Given the description of an element on the screen output the (x, y) to click on. 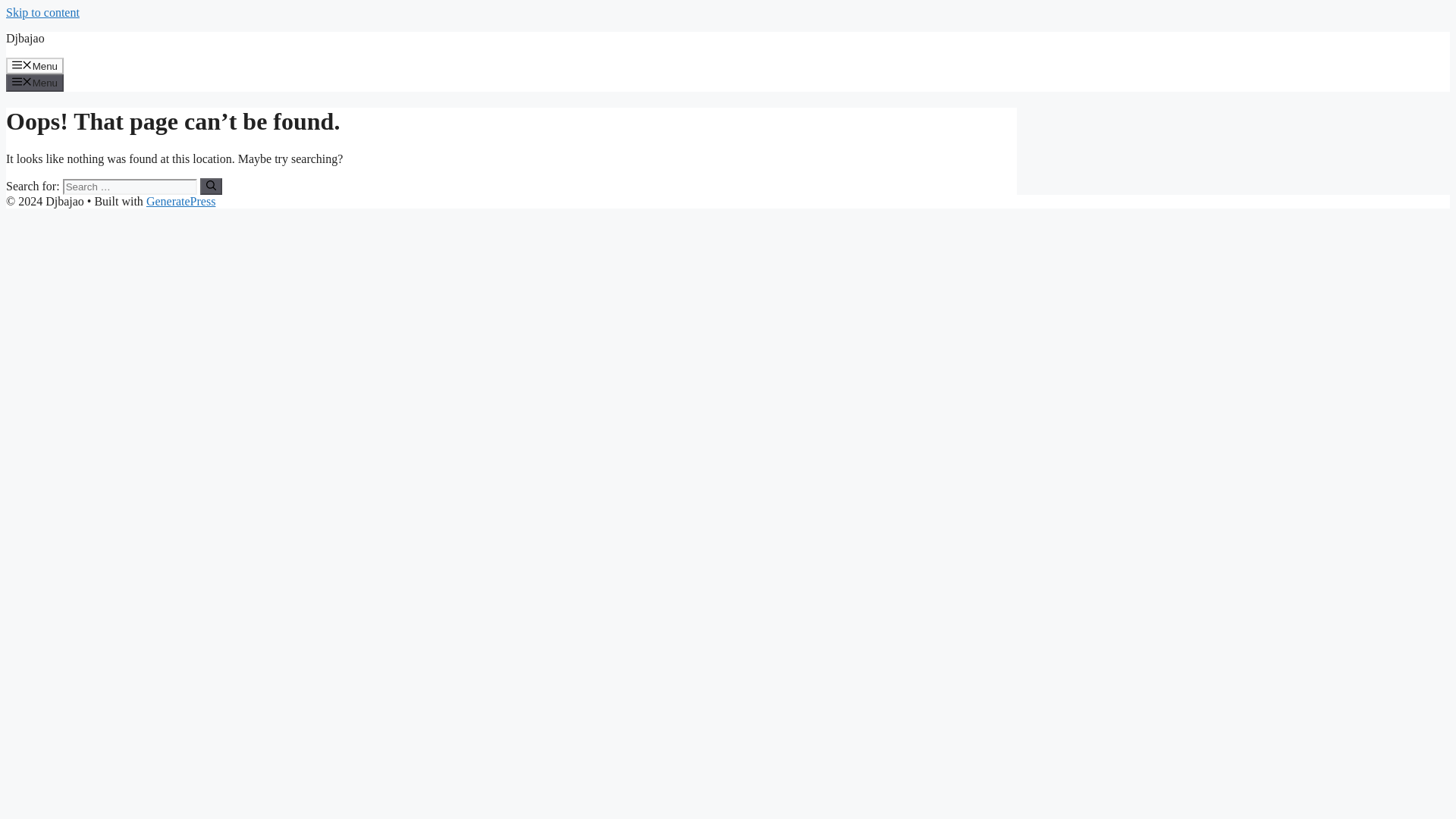
Menu (34, 82)
Djbajao (25, 38)
Search for: (129, 186)
Skip to content (42, 11)
Skip to content (42, 11)
Menu (34, 65)
